Given the description of an element on the screen output the (x, y) to click on. 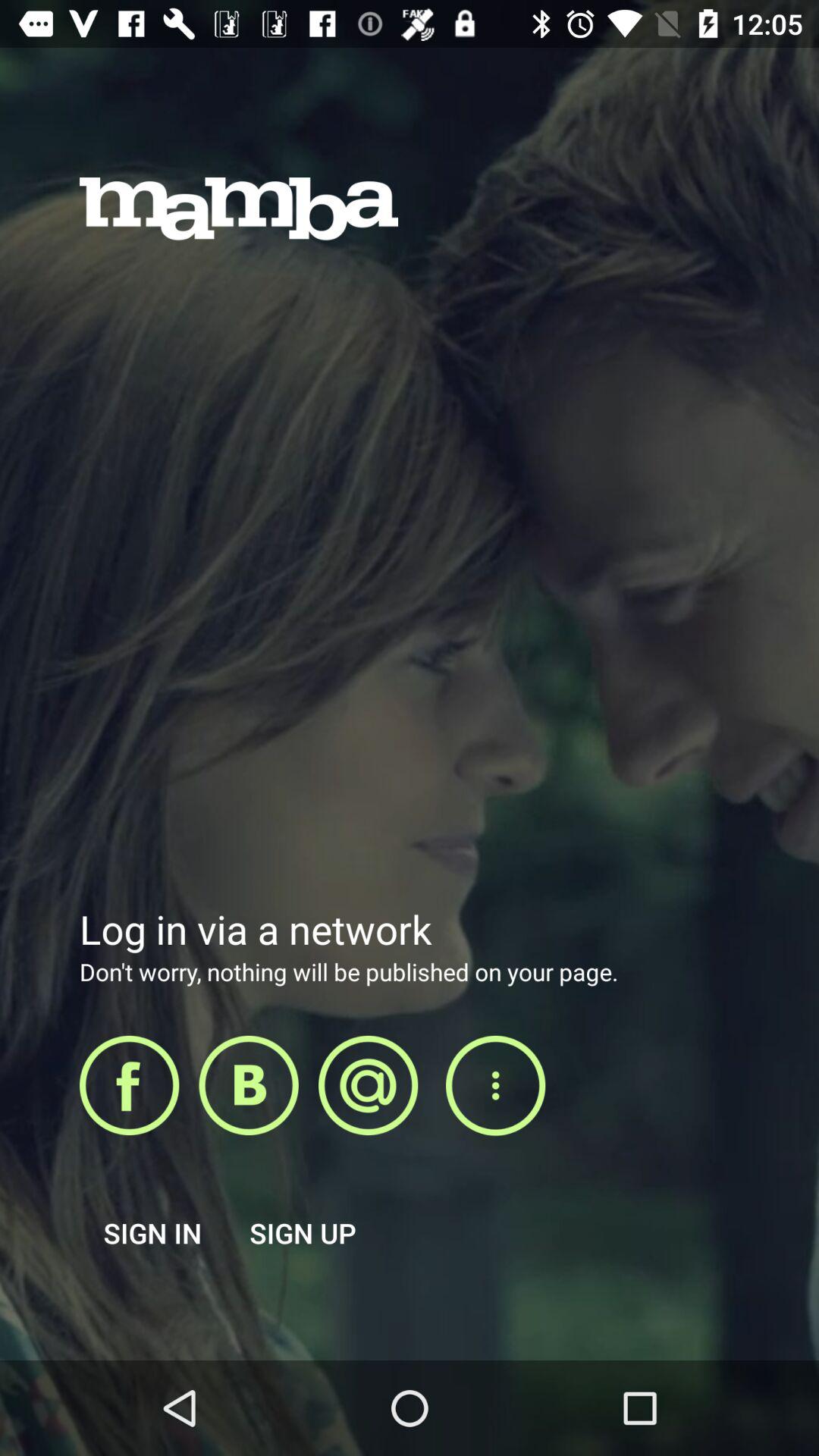
other sharing options (495, 1086)
